Given the description of an element on the screen output the (x, y) to click on. 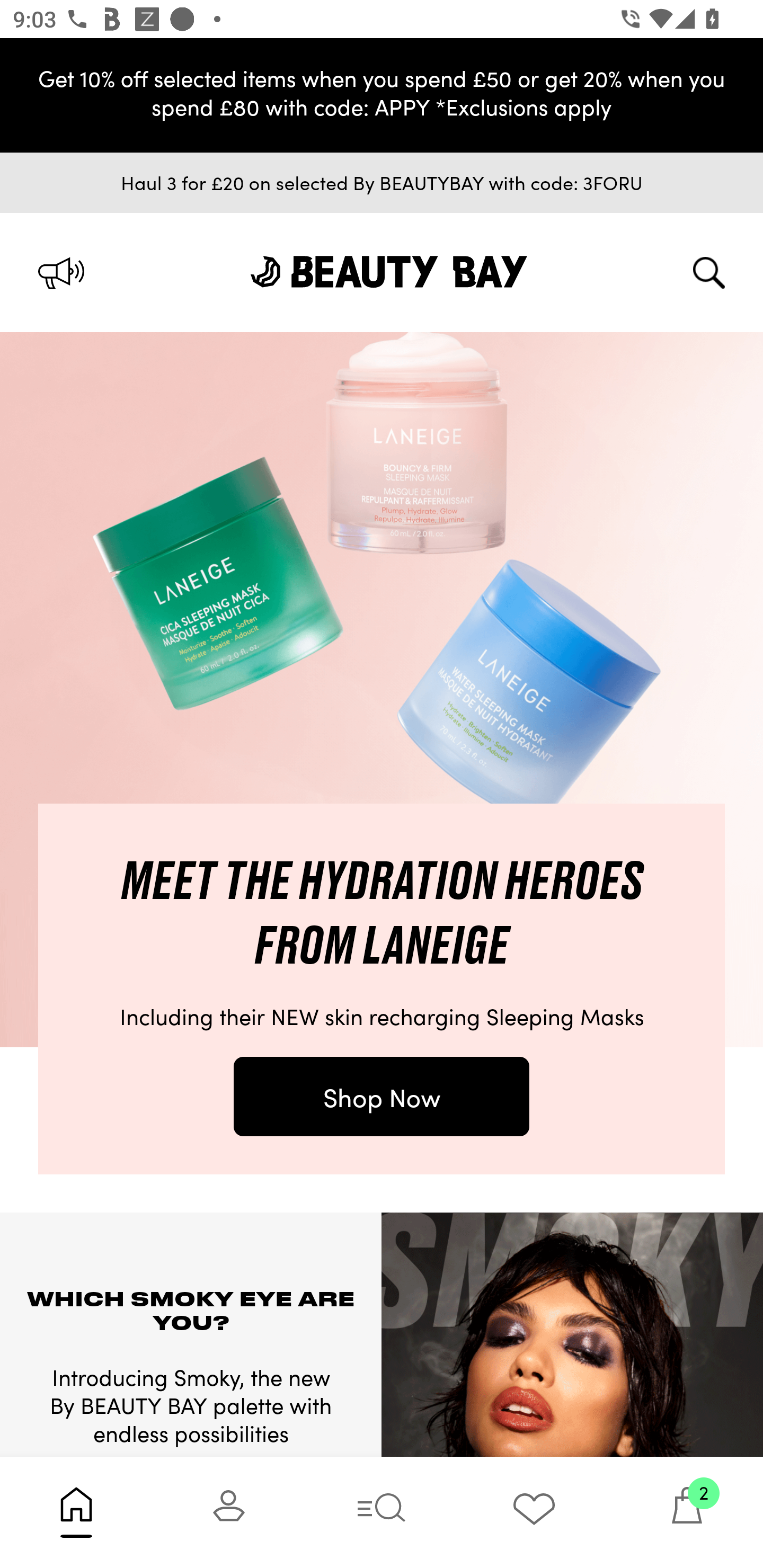
2 (686, 1512)
